Given the description of an element on the screen output the (x, y) to click on. 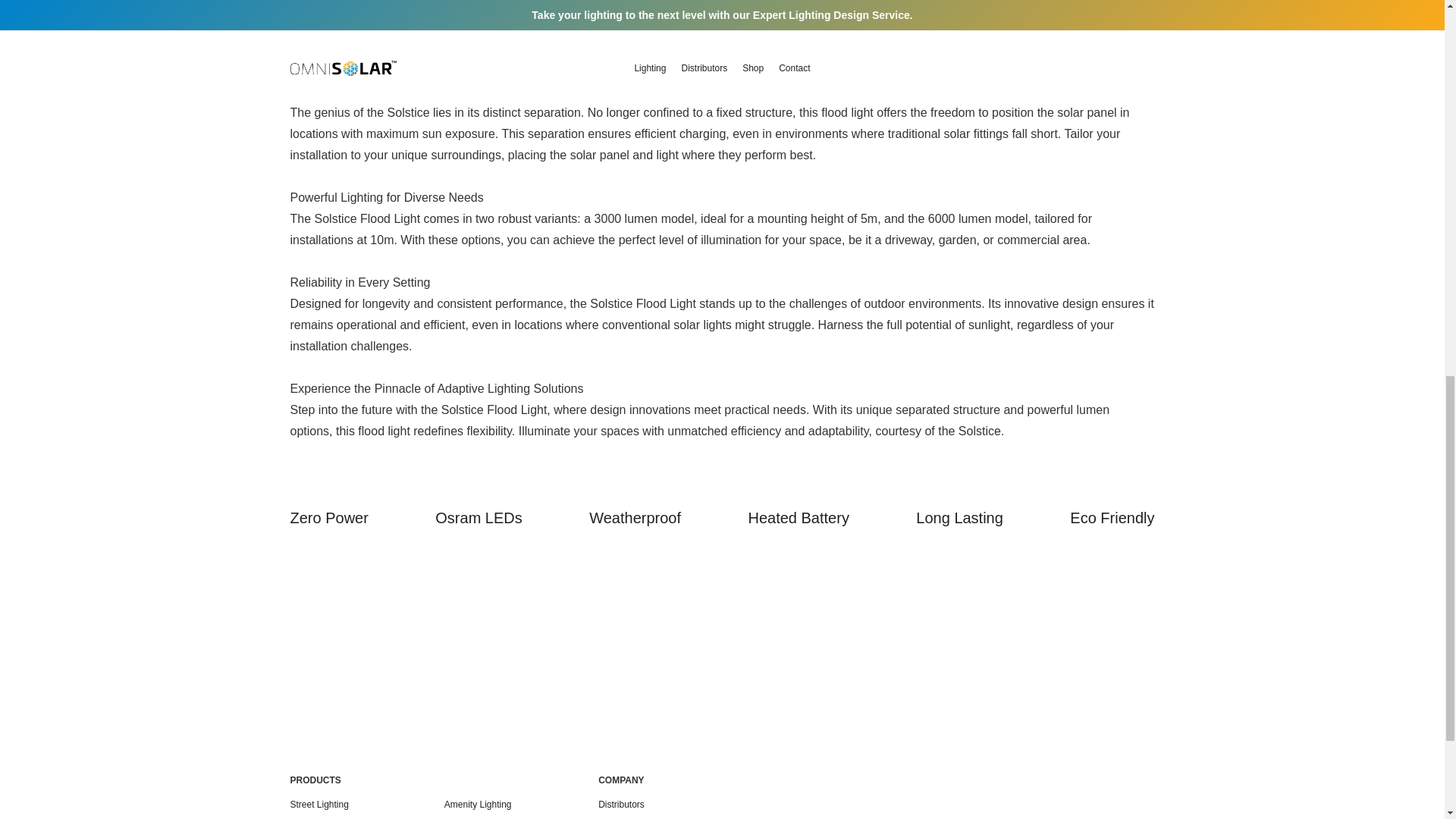
Flood Lighting (321, 817)
Amenity Lighting (481, 804)
Home Lighting (477, 817)
Street Lighting (322, 804)
Contact (617, 817)
Distributors (625, 804)
